Given the description of an element on the screen output the (x, y) to click on. 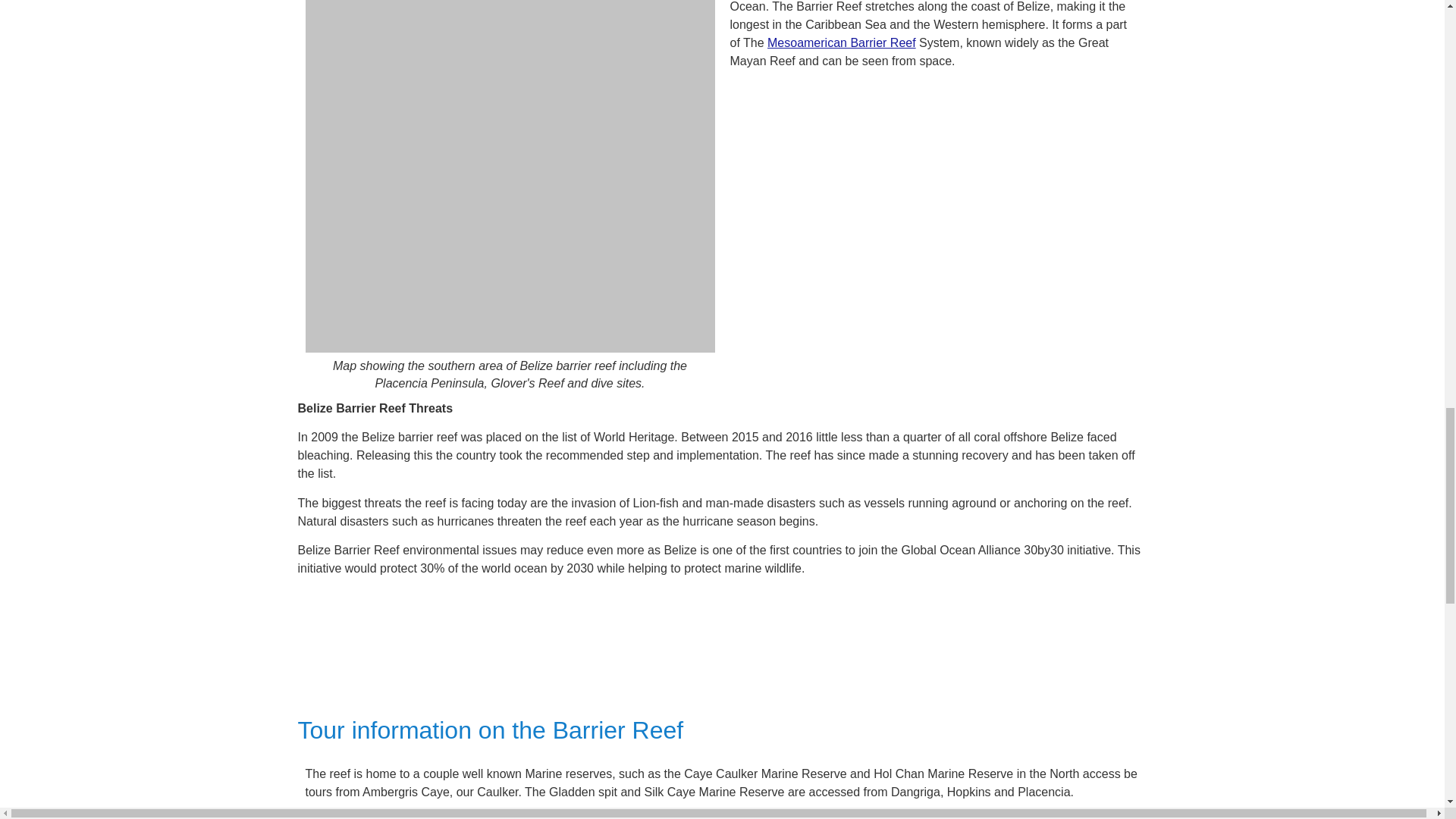
Mesoamerican Barrier Reef (841, 42)
